Given the description of an element on the screen output the (x, y) to click on. 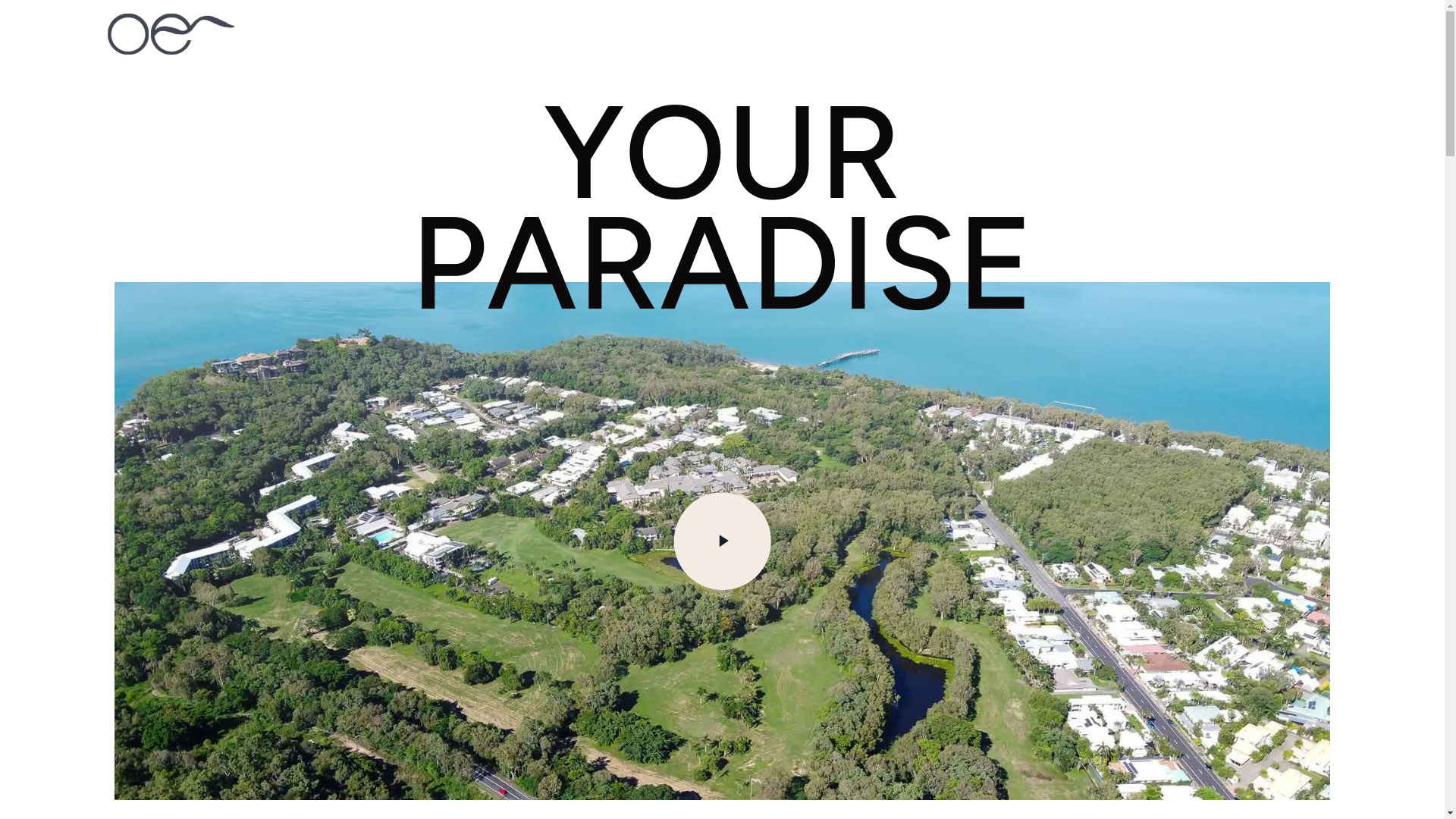
Play Video Element type: text (722, 540)
LOCATION Element type: text (507, 33)
TEAM Element type: text (856, 33)
CONTACT Element type: text (939, 33)
NOW SELLING Element type: text (756, 33)
MASTERPLAN Element type: text (625, 33)
